Given the description of an element on the screen output the (x, y) to click on. 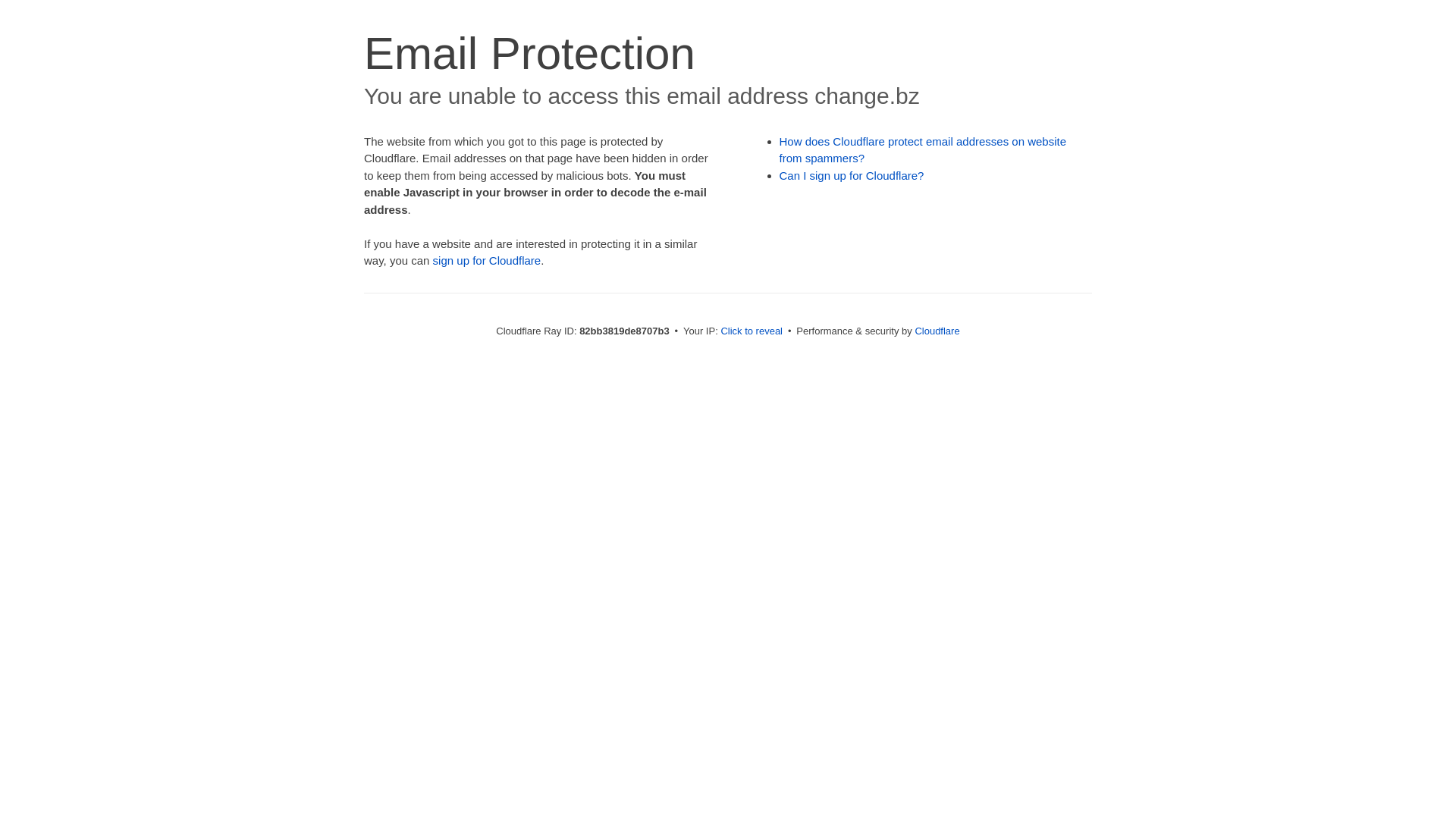
Cloudflare Element type: text (936, 330)
Click to reveal Element type: text (751, 330)
sign up for Cloudflare Element type: text (487, 260)
Can I sign up for Cloudflare? Element type: text (851, 175)
